Given the description of an element on the screen output the (x, y) to click on. 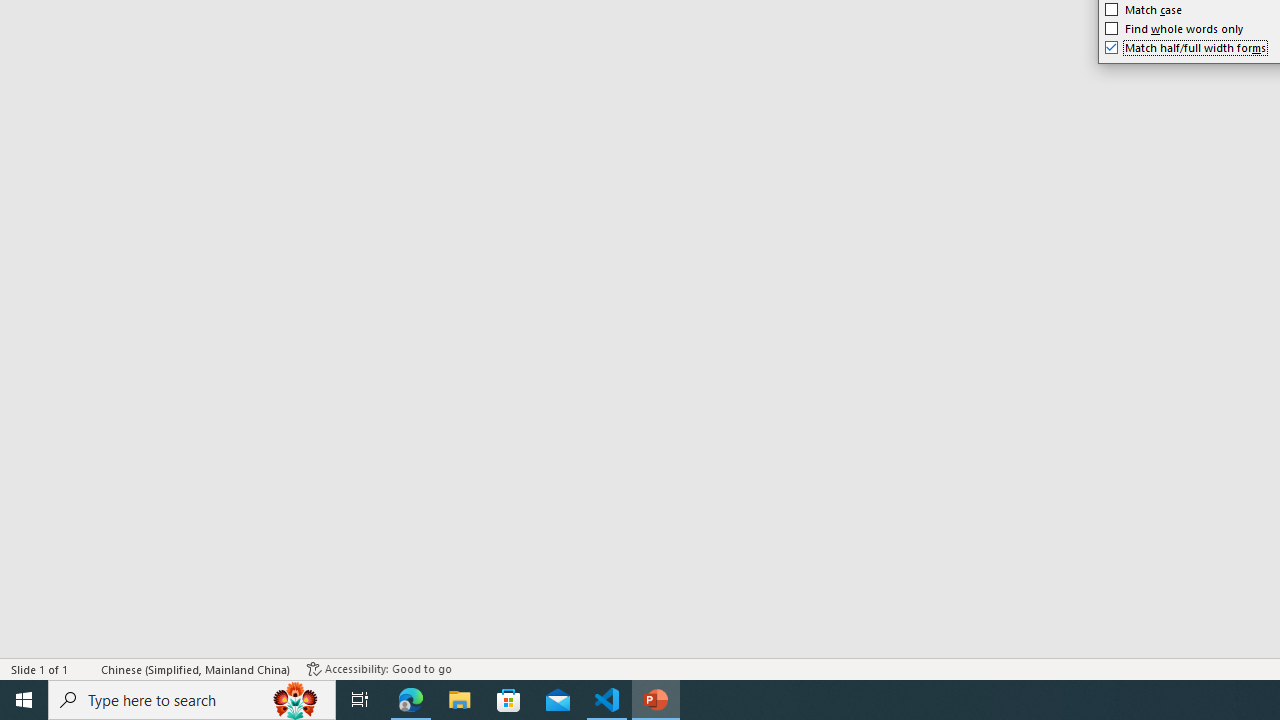
Spell Check  (86, 668)
Match case (1144, 10)
Find whole words only (1174, 28)
Match half/full width forms (1186, 48)
Accessibility Checker Accessibility: Good to go (379, 668)
